Given the description of an element on the screen output the (x, y) to click on. 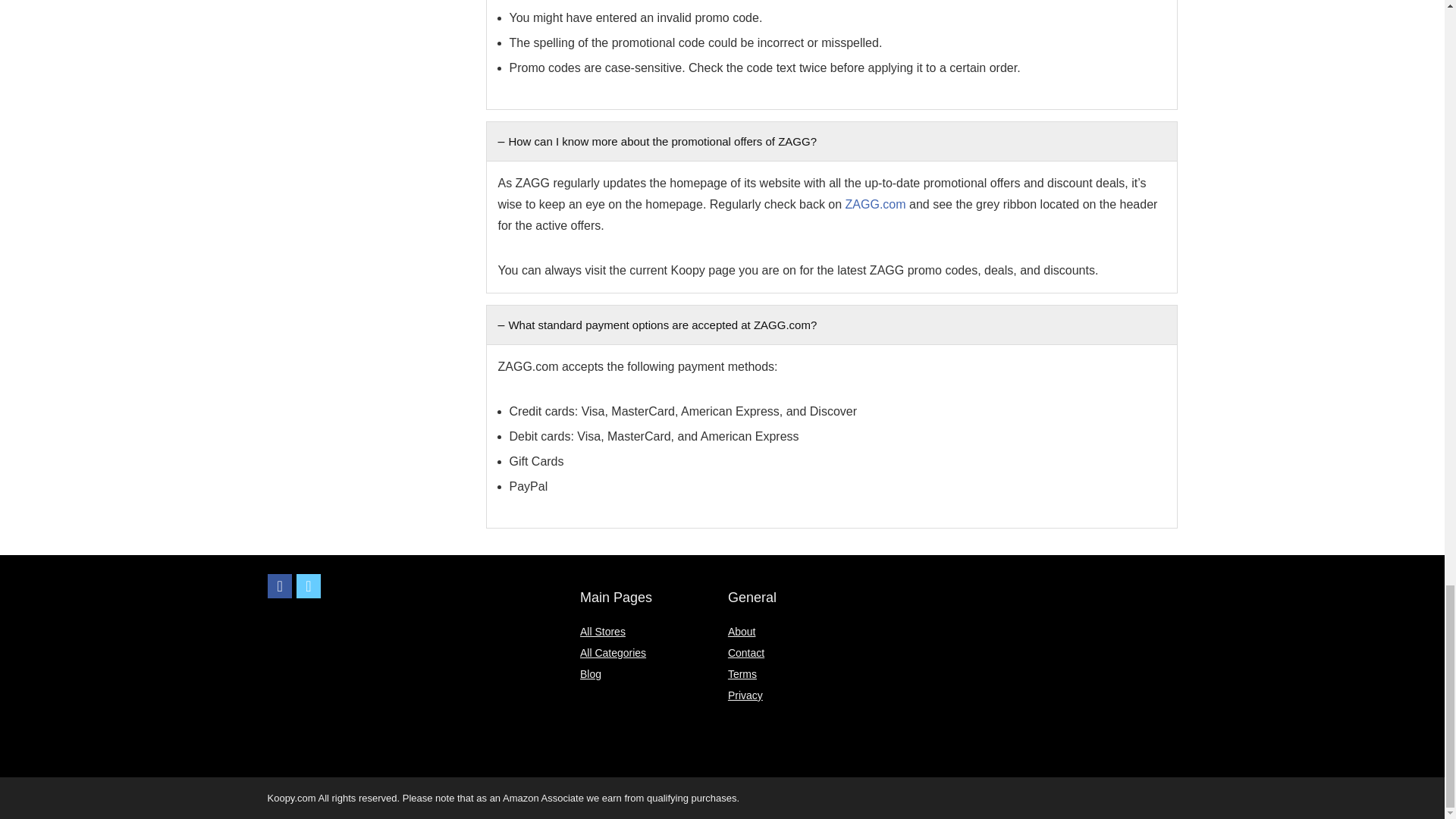
All Categories (612, 653)
ZAGG.com (875, 204)
About (741, 631)
Blog (590, 674)
All Stores (602, 631)
Contact (746, 653)
